Given the description of an element on the screen output the (x, y) to click on. 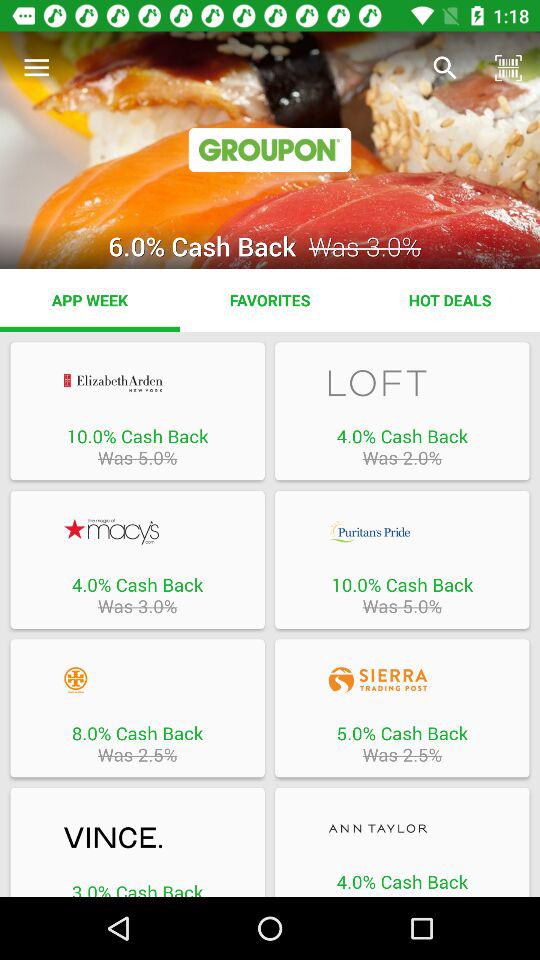
select this item button (137, 382)
